Given the description of an element on the screen output the (x, y) to click on. 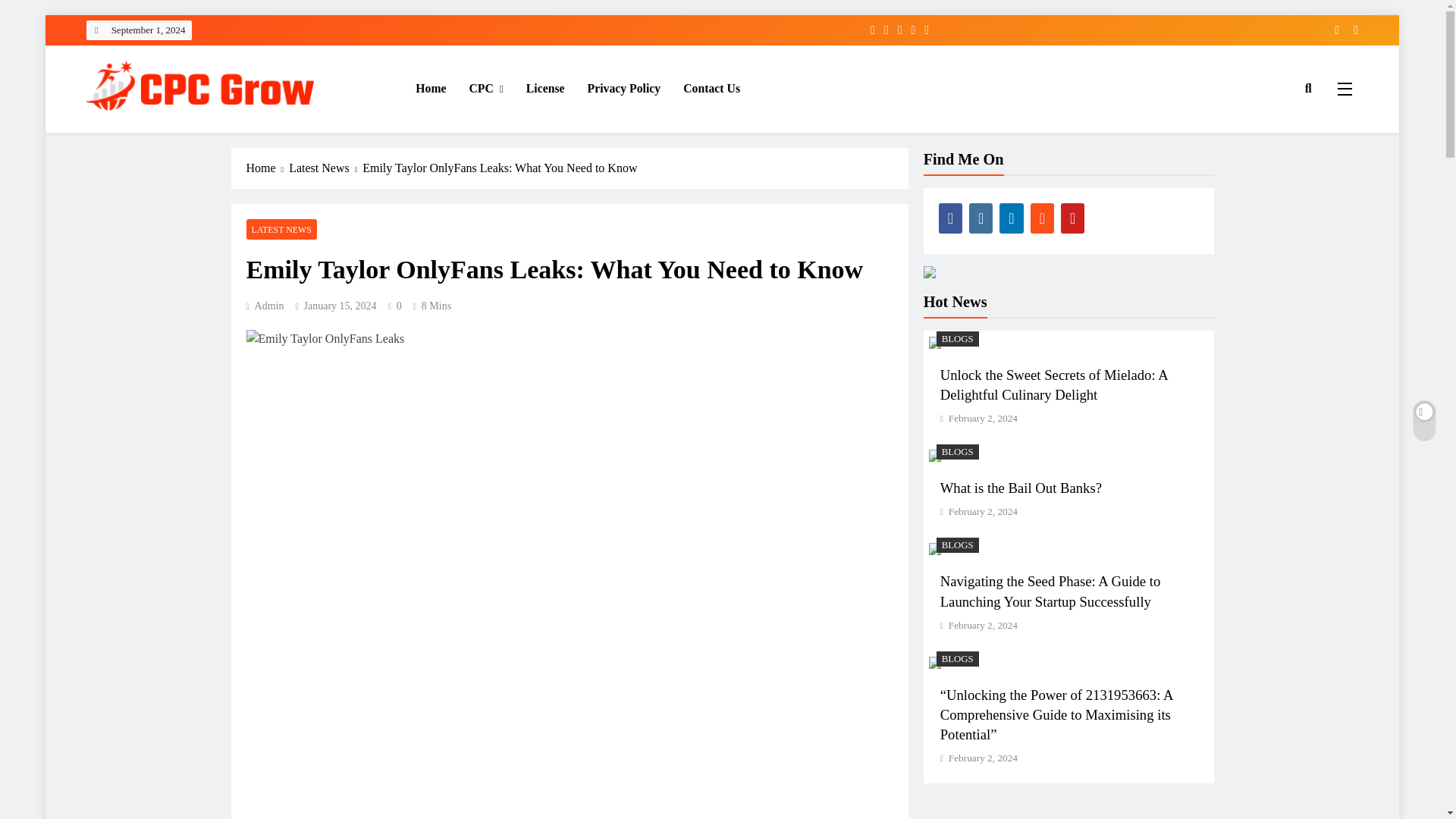
License (545, 87)
Privacy Policy (624, 87)
Contact Us (711, 87)
Home (430, 87)
CPC GROW (152, 134)
CPC (486, 88)
